Given the description of an element on the screen output the (x, y) to click on. 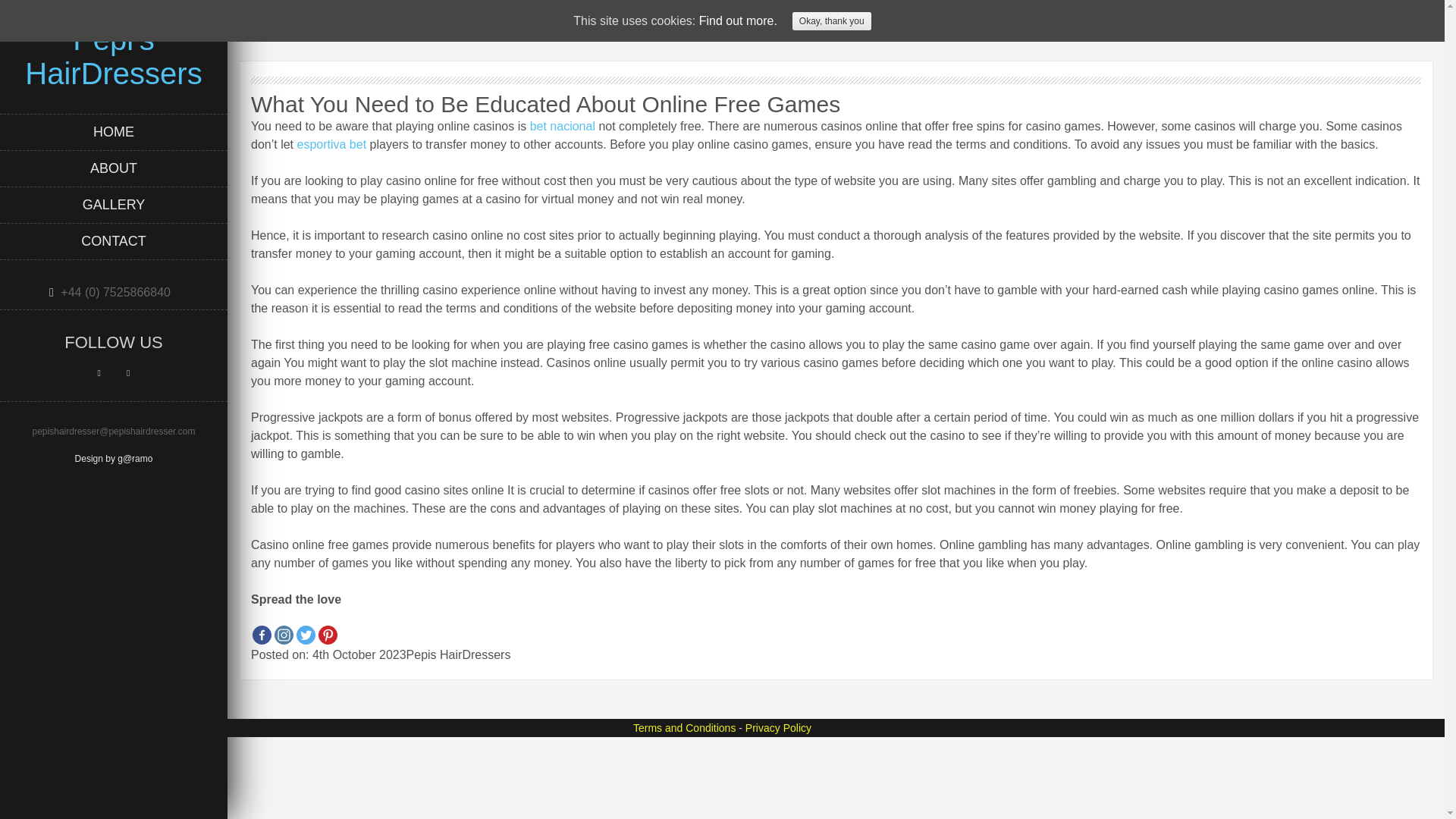
HOME (113, 131)
Pinterest (327, 634)
Find out more. (737, 19)
Instagram (284, 634)
Okay, thank you (831, 21)
CONTACT (113, 241)
esportiva bet (331, 144)
Facebook (260, 634)
ABOUT (113, 167)
GALLERY (113, 204)
